Given the description of an element on the screen output the (x, y) to click on. 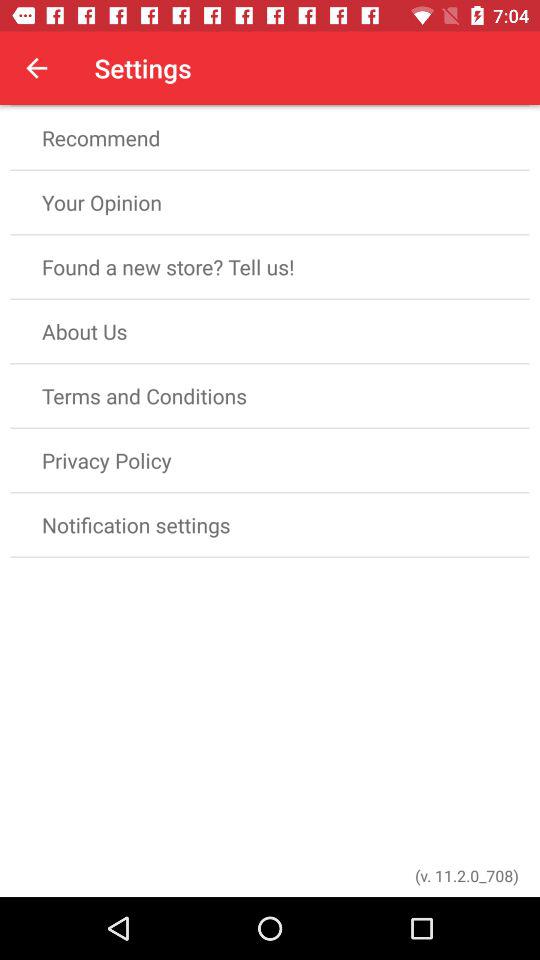
turn on item below the your opinion (269, 266)
